Given the description of an element on the screen output the (x, y) to click on. 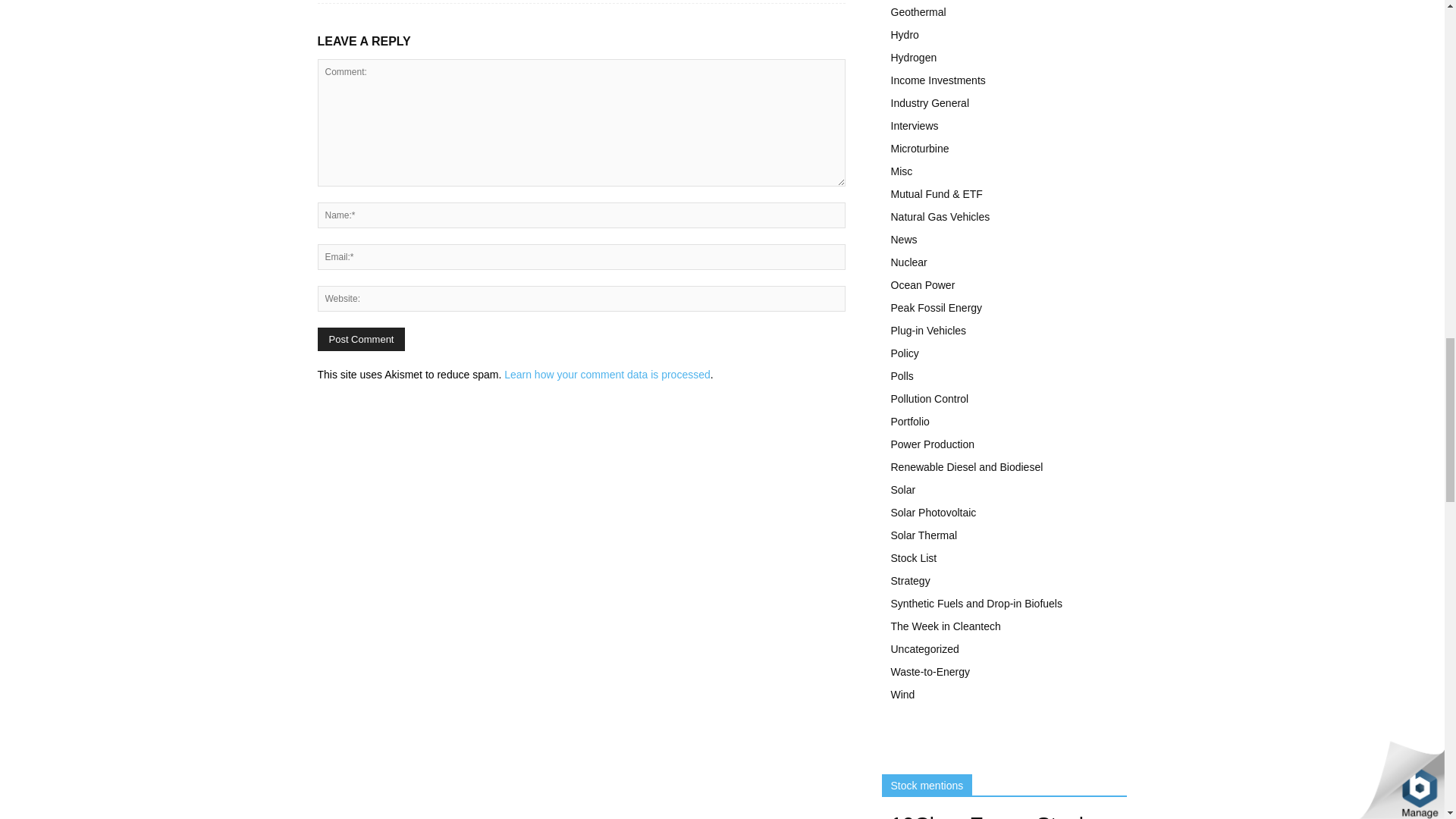
Post Comment (360, 339)
